Given the description of an element on the screen output the (x, y) to click on. 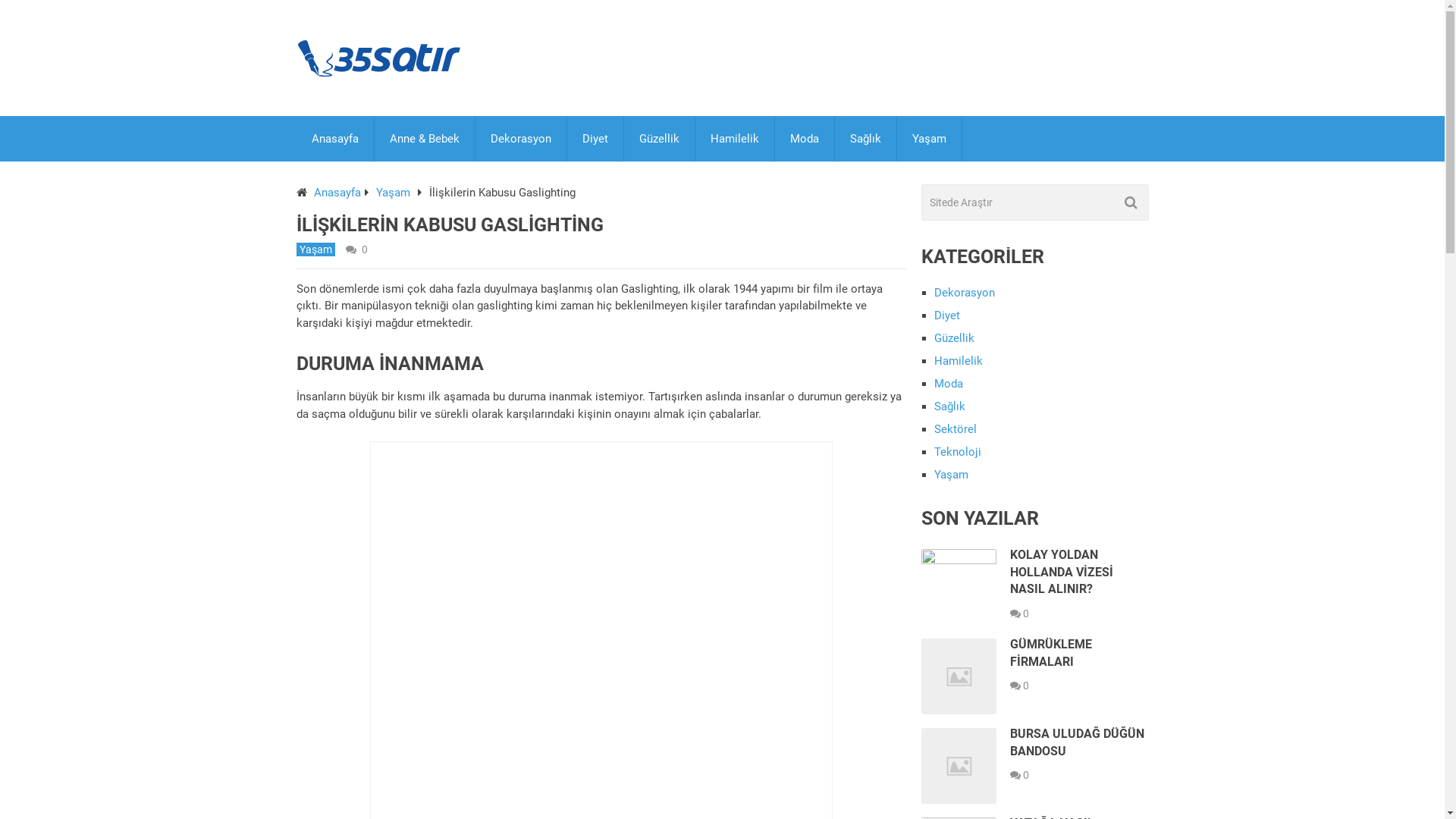
Hamilelik Element type: text (733, 138)
KOLAY YOLDAN HOLLANDA VIZESI NASIL ALINIR? Element type: text (1061, 571)
0 Element type: text (363, 249)
Anasayfa Element type: text (336, 192)
Moda Element type: text (804, 138)
Moda Element type: text (948, 383)
Diyet Element type: text (947, 315)
Anne & Bebek Element type: text (424, 138)
Anasayfa Element type: text (334, 138)
Dekorasyon Element type: text (964, 292)
Hamilelik Element type: text (958, 360)
Teknoloji Element type: text (957, 451)
Dekorasyon Element type: text (519, 138)
Diyet Element type: text (595, 138)
